Given the description of an element on the screen output the (x, y) to click on. 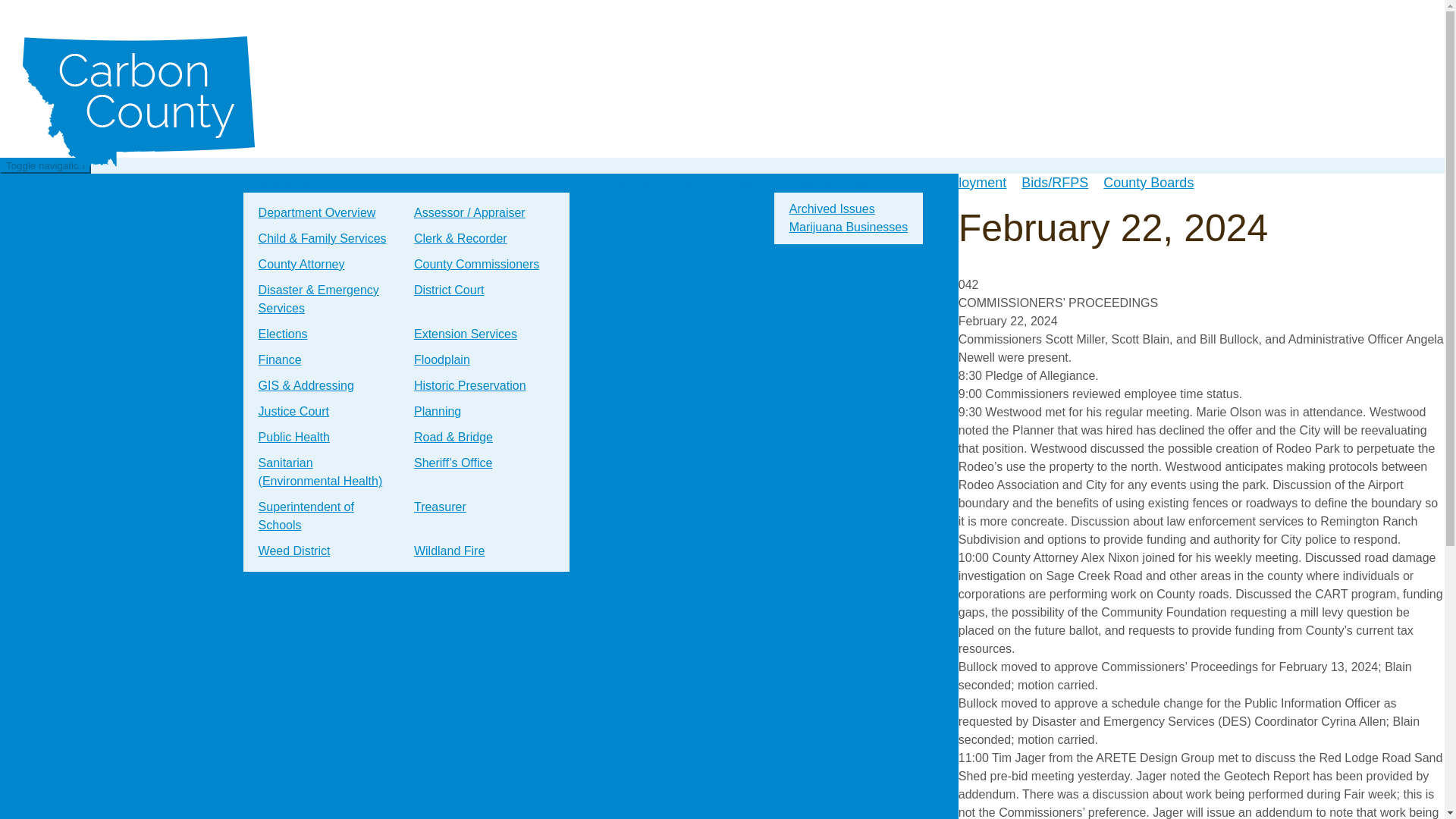
County Attorney (301, 264)
Elections (282, 334)
Floodplain (441, 360)
District Court (449, 290)
Historic Preservation (470, 385)
Planning (437, 411)
Archived Issues (831, 209)
Finance (279, 360)
Public Health (293, 437)
Employment (968, 182)
Weed District (293, 551)
Planning (437, 411)
Historic Preservation (470, 385)
Treasurer (440, 507)
County Boards (1148, 182)
